Given the description of an element on the screen output the (x, y) to click on. 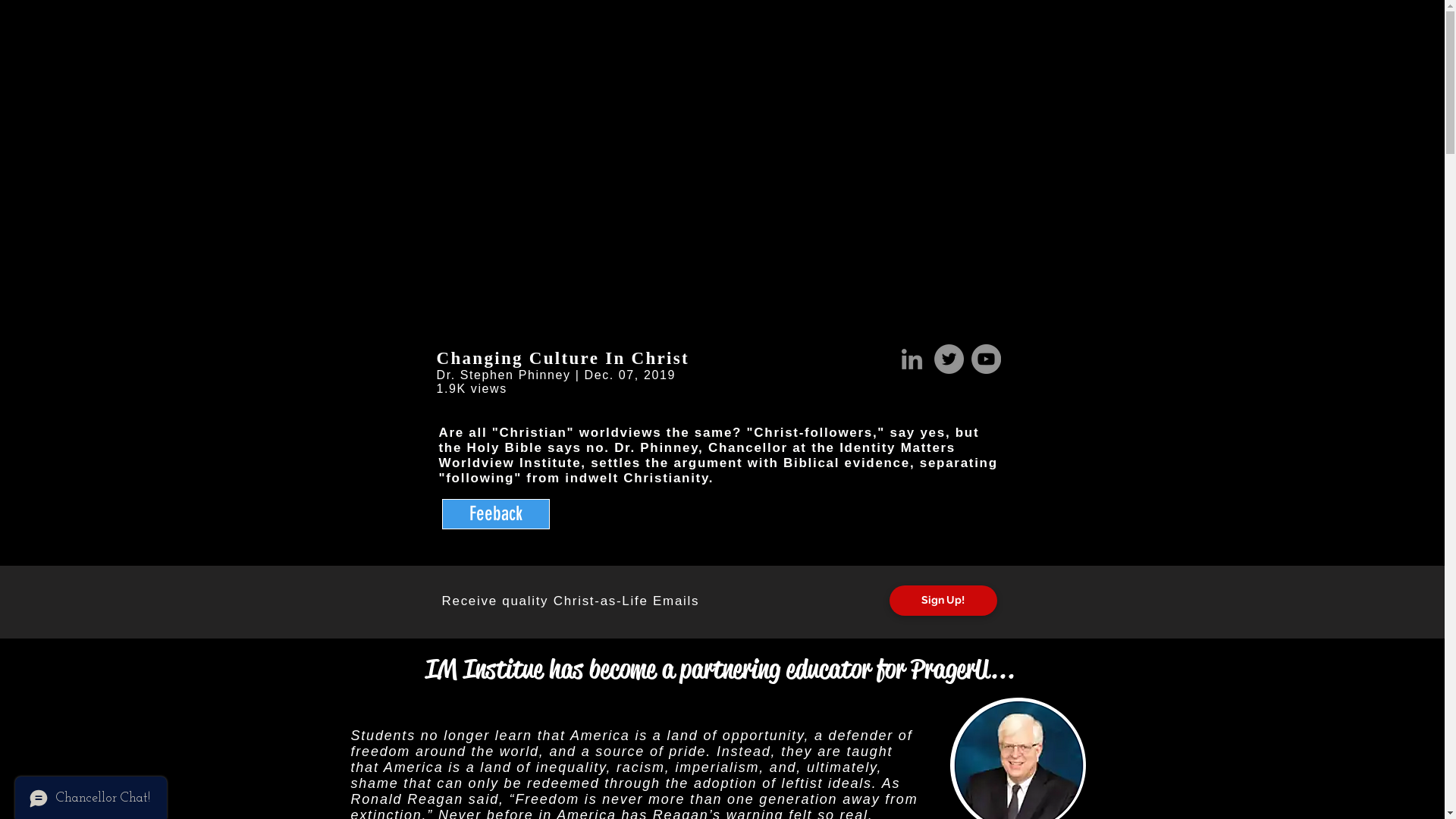
Sign Up! Element type: text (942, 600)
IM Woldview Institute Home Page Element type: hover (327, 45)
IM News Element type: text (649, 46)
Feeback Element type: text (495, 513)
IMTV Element type: text (758, 46)
Engage Element type: text (814, 46)
About Element type: text (707, 46)
Online School Element type: text (887, 46)
Resources Element type: text (968, 46)
Home Element type: text (590, 46)
